Given the description of an element on the screen output the (x, y) to click on. 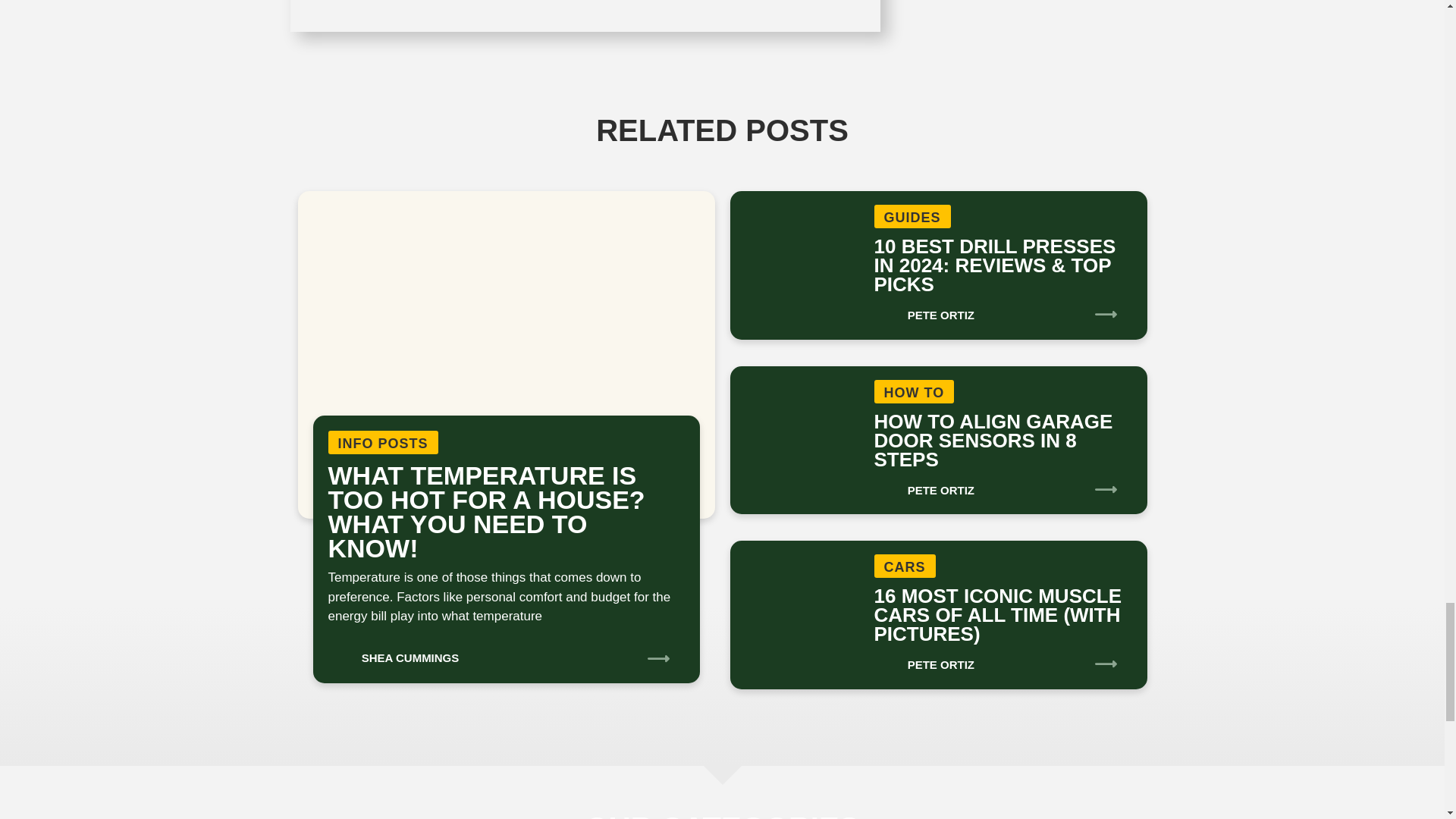
PETE ORTIZ (923, 309)
SHEA CUMMINGS (392, 653)
HOW TO ALIGN GARAGE DOOR SENSORS IN 8 STEPS (992, 440)
PETE ORTIZ (923, 485)
